Given the description of an element on the screen output the (x, y) to click on. 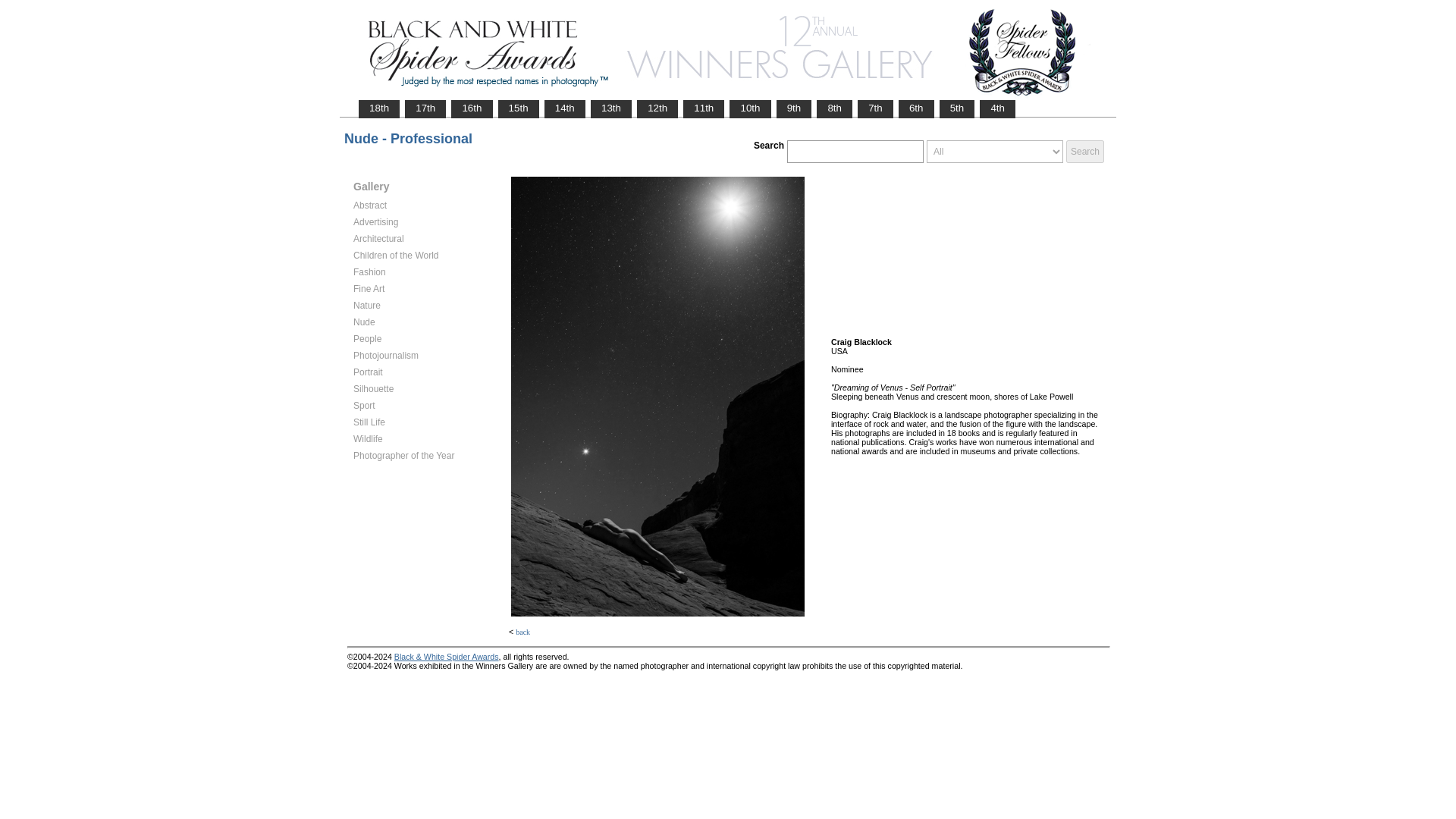
   9th    (793, 107)
   10th    (750, 107)
   18th    (378, 107)
   13th    (610, 107)
   4th    (996, 107)
   12th    (657, 107)
   17th    (425, 107)
   14th    (564, 107)
   8th    (833, 107)
   7th    (875, 107)
   16th    (471, 107)
   15th    (518, 107)
Search (1084, 151)
Dreaming of Venus - Self Portrait (658, 396)
   6th    (916, 107)
